Given the description of an element on the screen output the (x, y) to click on. 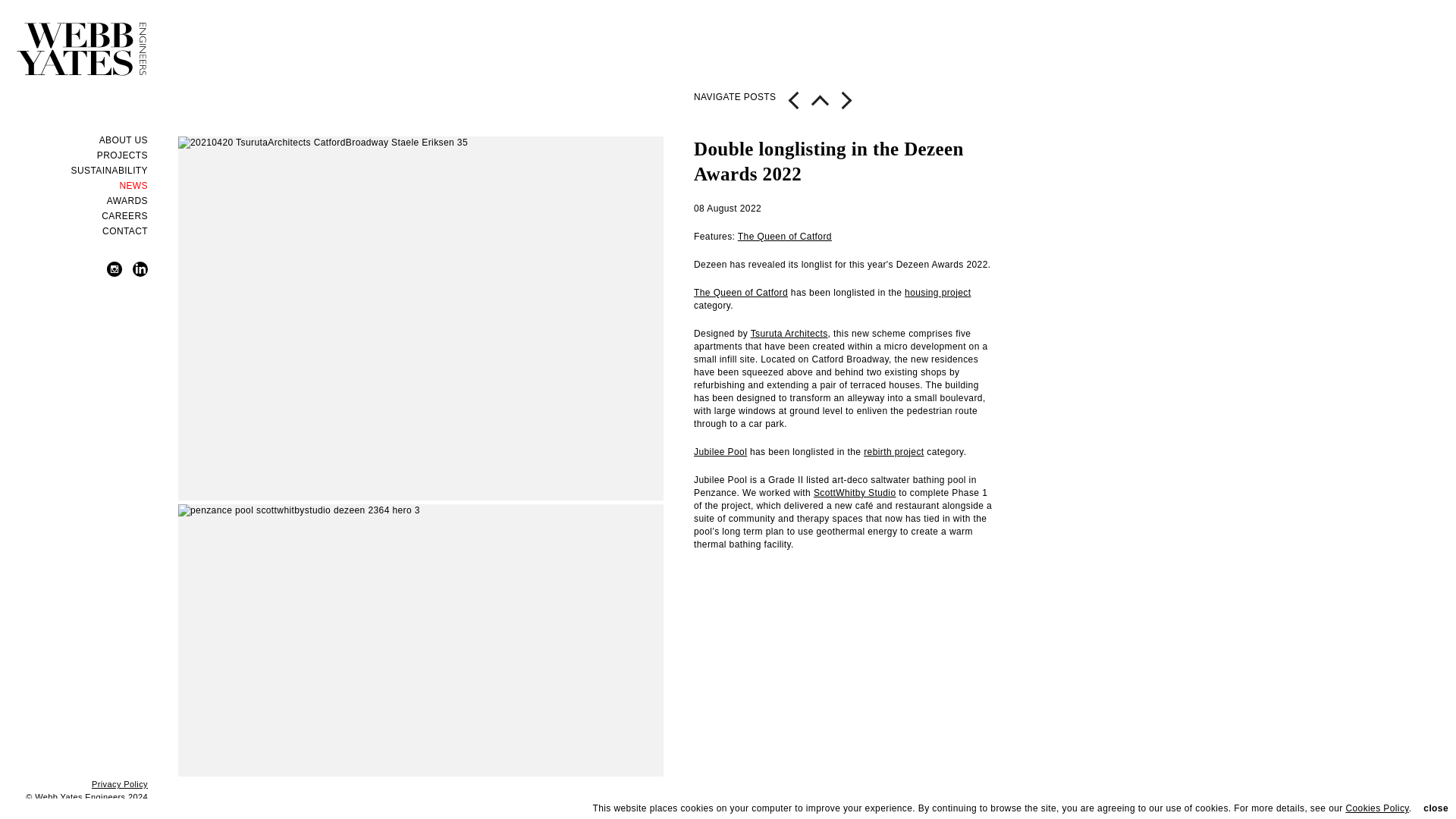
CONTACT (74, 231)
SUSTAINABILITY (74, 170)
NEWS (74, 185)
Back to News (819, 106)
The Queen of Catford (740, 292)
housing project (937, 292)
Next post (793, 106)
CAREERS (74, 215)
Tsuruta Architects (789, 333)
LinkedIn (140, 273)
